Given the description of an element on the screen output the (x, y) to click on. 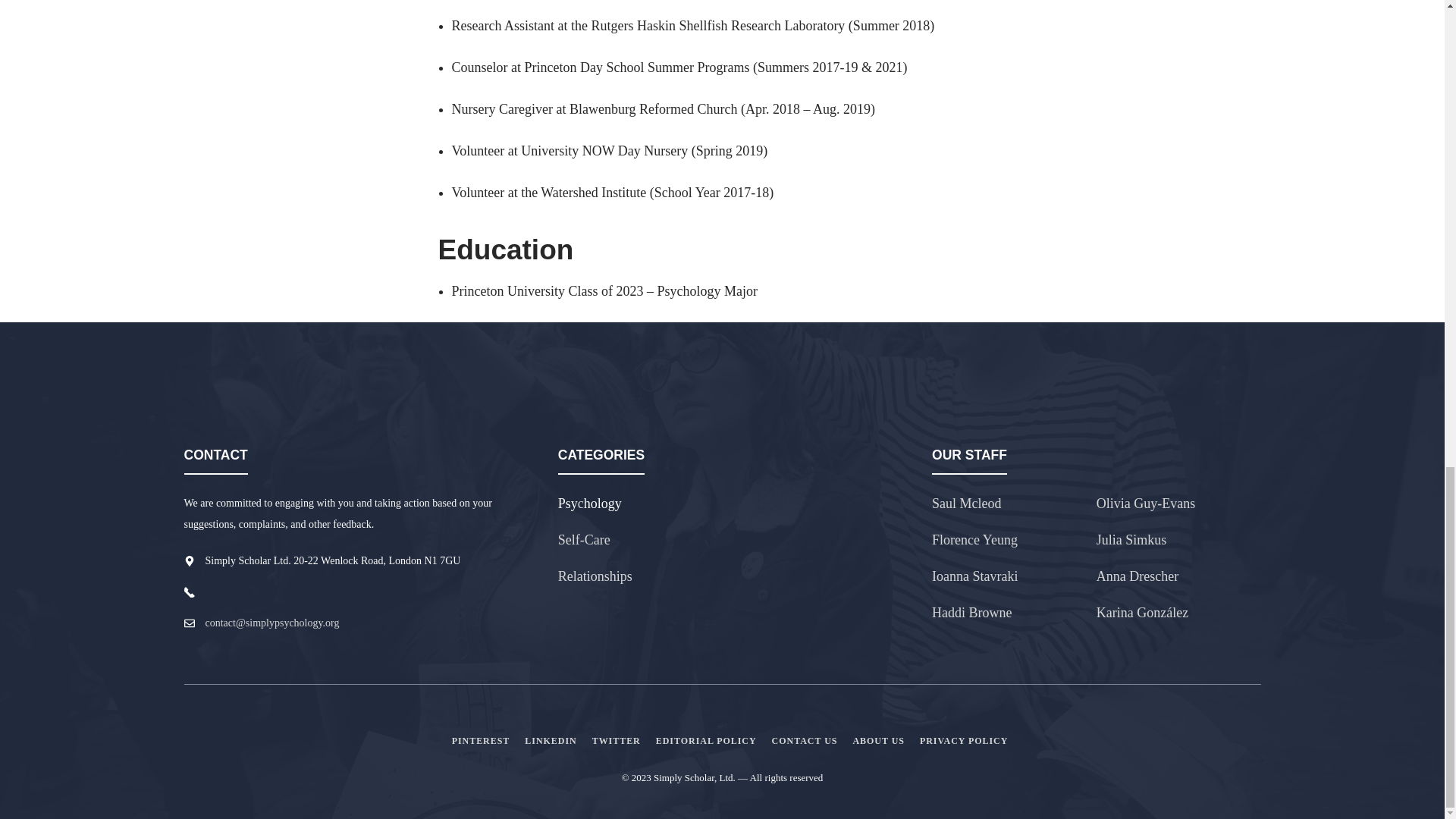
Ioanna Stavraki (974, 575)
Julia Simkus (1131, 539)
Florence Yeung (974, 539)
PINTEREST (481, 740)
Haddi Browne (971, 612)
Saul Mcleod (966, 503)
Anna Drescher (1136, 575)
LINKEDIN (550, 740)
Olivia Guy-Evans (1145, 503)
Relationships (594, 575)
